Given the description of an element on the screen output the (x, y) to click on. 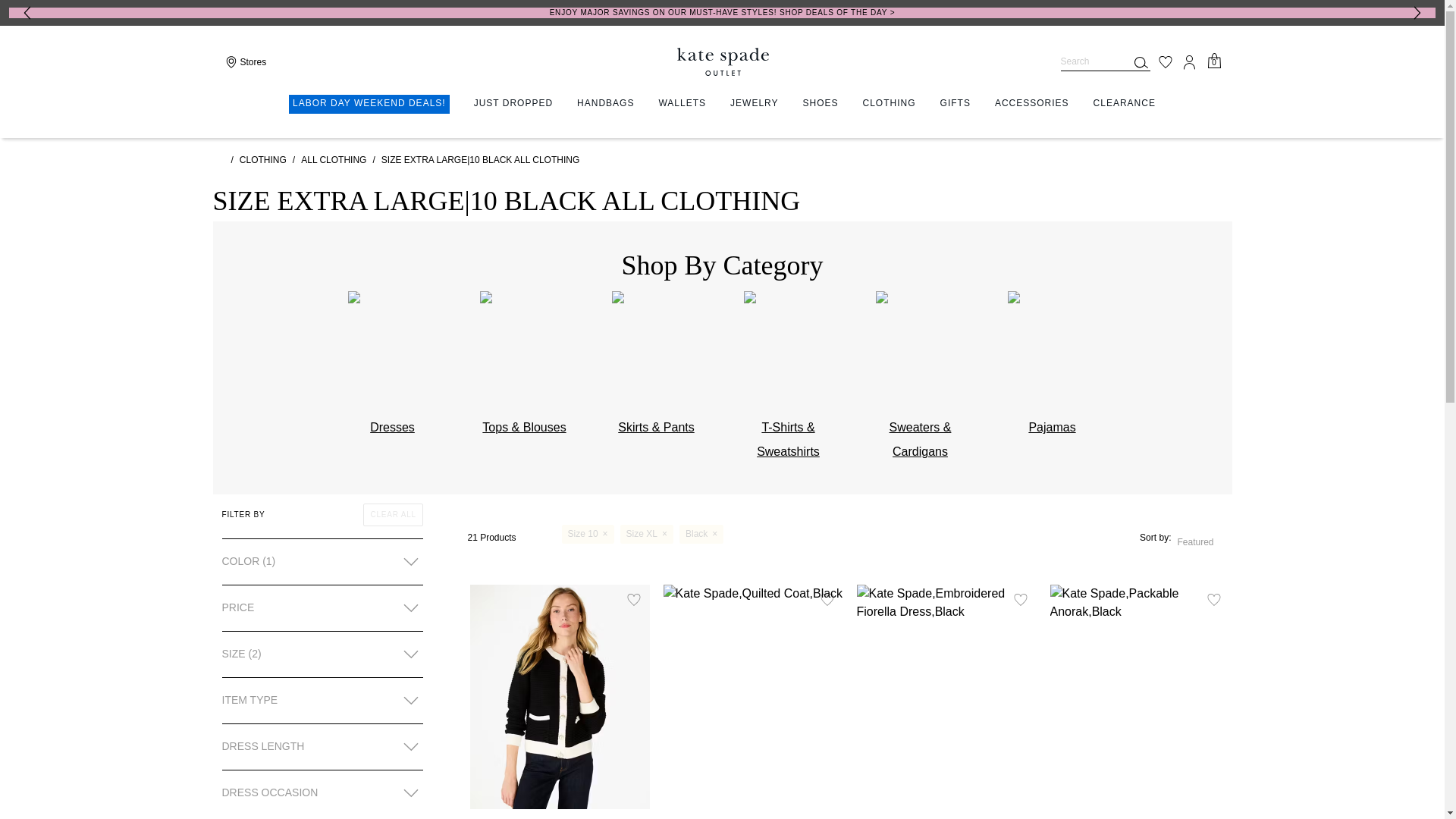
WALLETS (682, 103)
Shoes (820, 103)
LABOR DAY WEEKEND DEALS! (368, 104)
Accessories (1031, 103)
LABOR DAY WEEKEND DEALS! (368, 104)
PRICE (322, 607)
Clothing (889, 103)
ITEM TYPE (322, 700)
CLEARANCE (1124, 103)
HANDBAGS (604, 103)
